Given the description of an element on the screen output the (x, y) to click on. 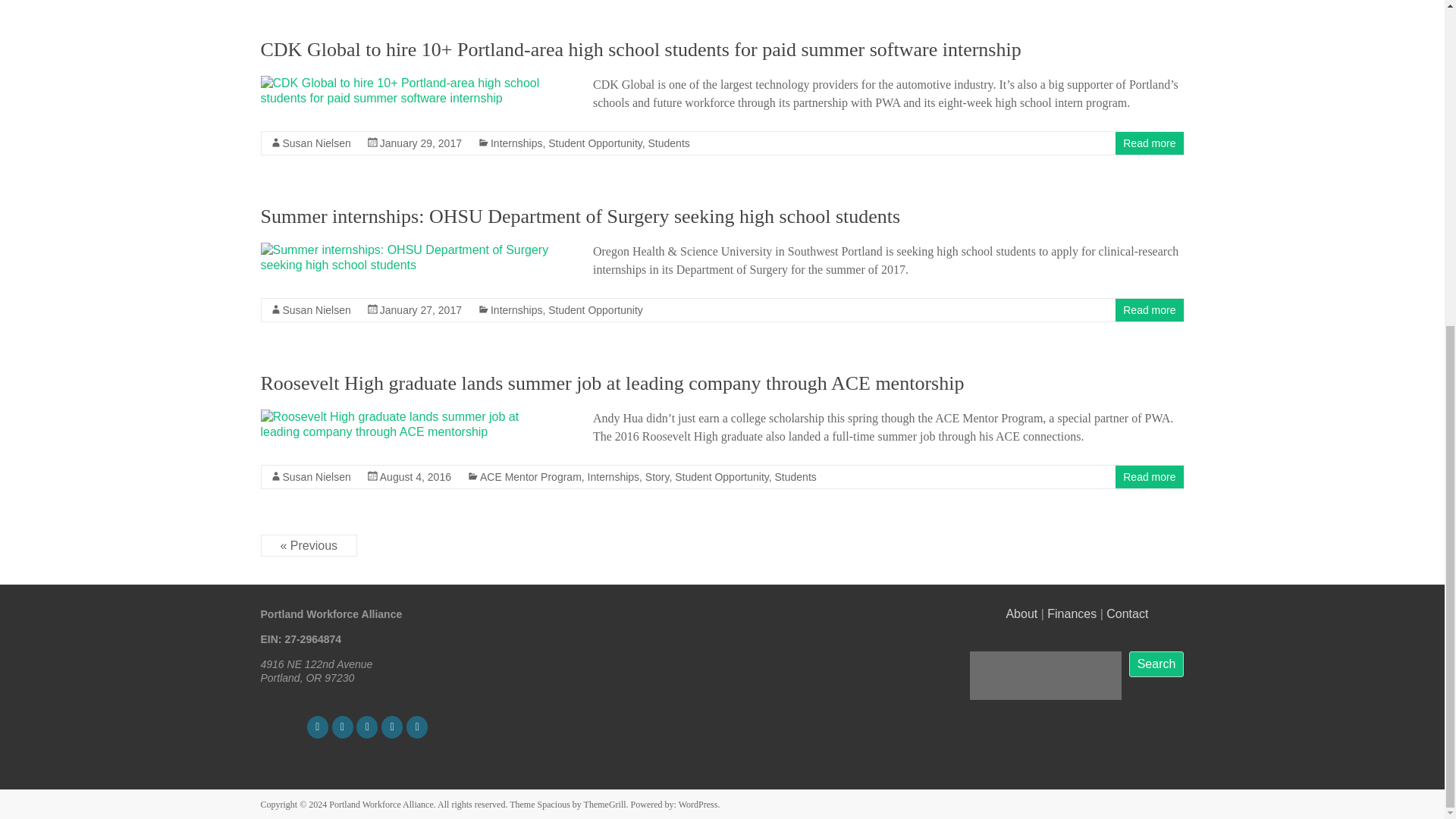
5:08 pm (420, 143)
